Given the description of an element on the screen output the (x, y) to click on. 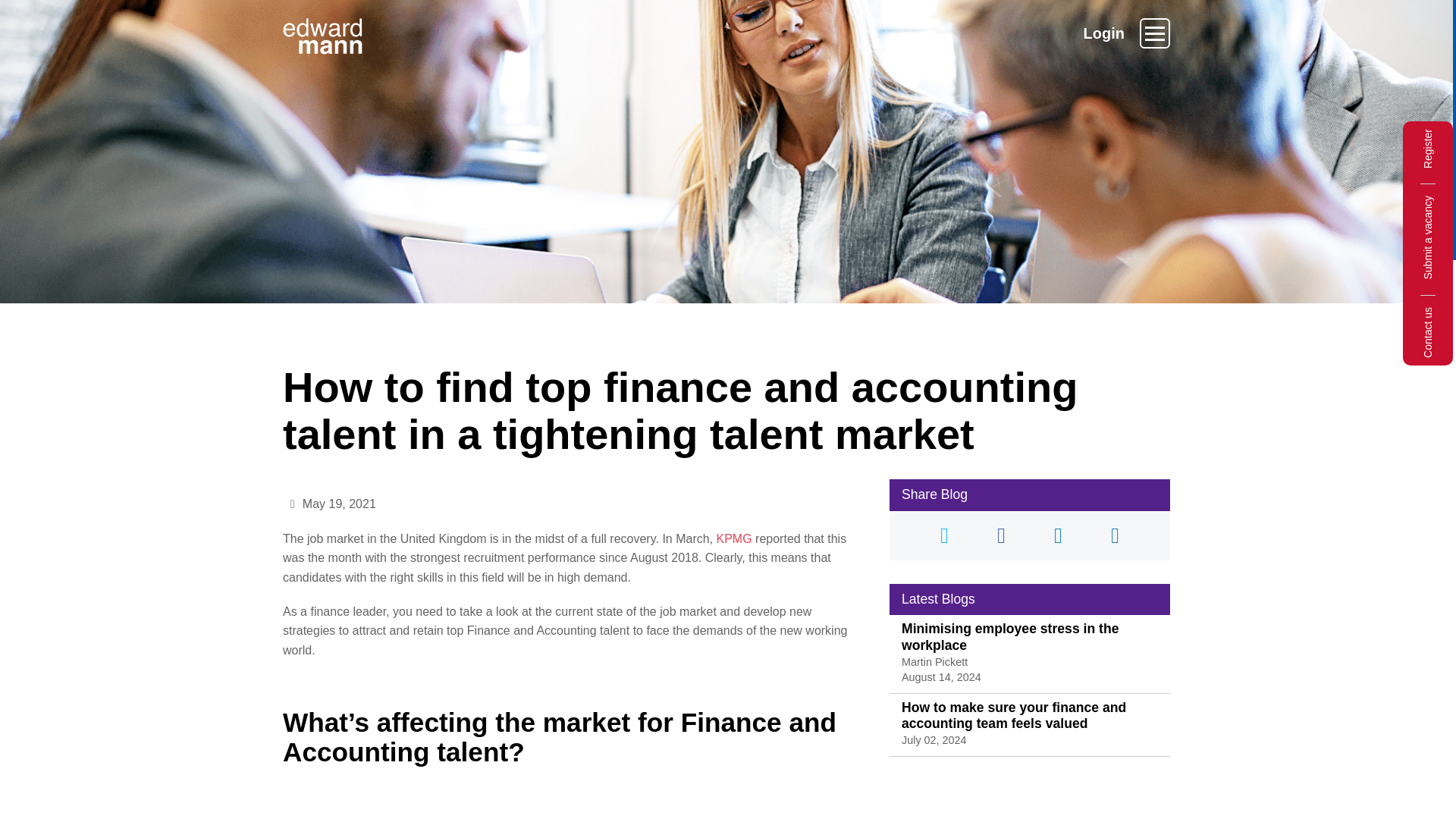
Login (1111, 33)
Facebook (1000, 535)
Edward Mann (325, 36)
LinkedIn (1057, 535)
Email (1114, 535)
KPMG (734, 538)
Edward Mann (325, 36)
Twitter (944, 535)
